Given the description of an element on the screen output the (x, y) to click on. 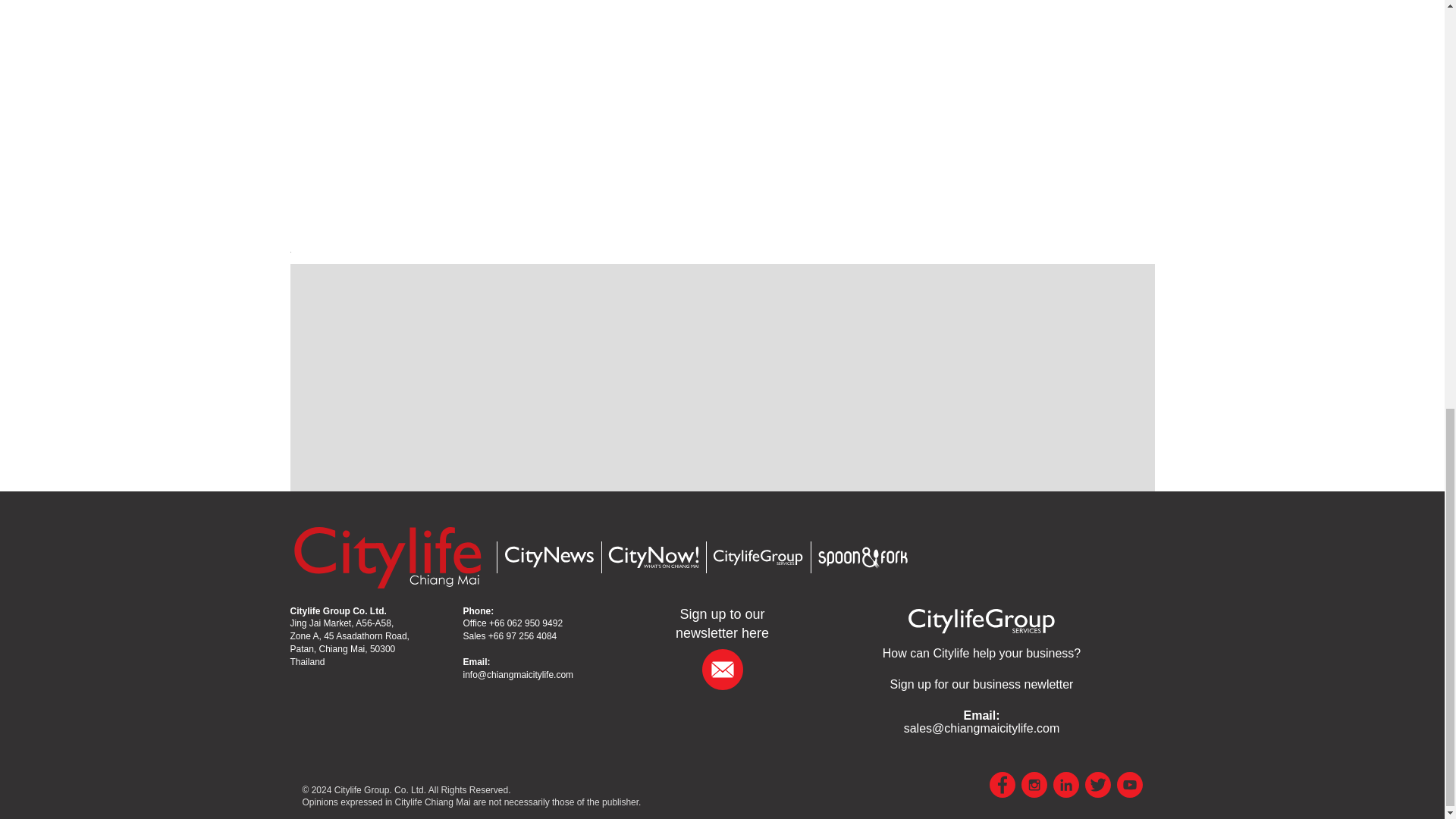
CityNews (548, 556)
Citylife Group Services (757, 556)
CityNow - What's on Chiang Mai (652, 557)
Chiang Mai Citylife (386, 556)
Advertisement (1046, 97)
Citylife Group Services (981, 620)
Citylife Group Services (981, 653)
